Given the description of an element on the screen output the (x, y) to click on. 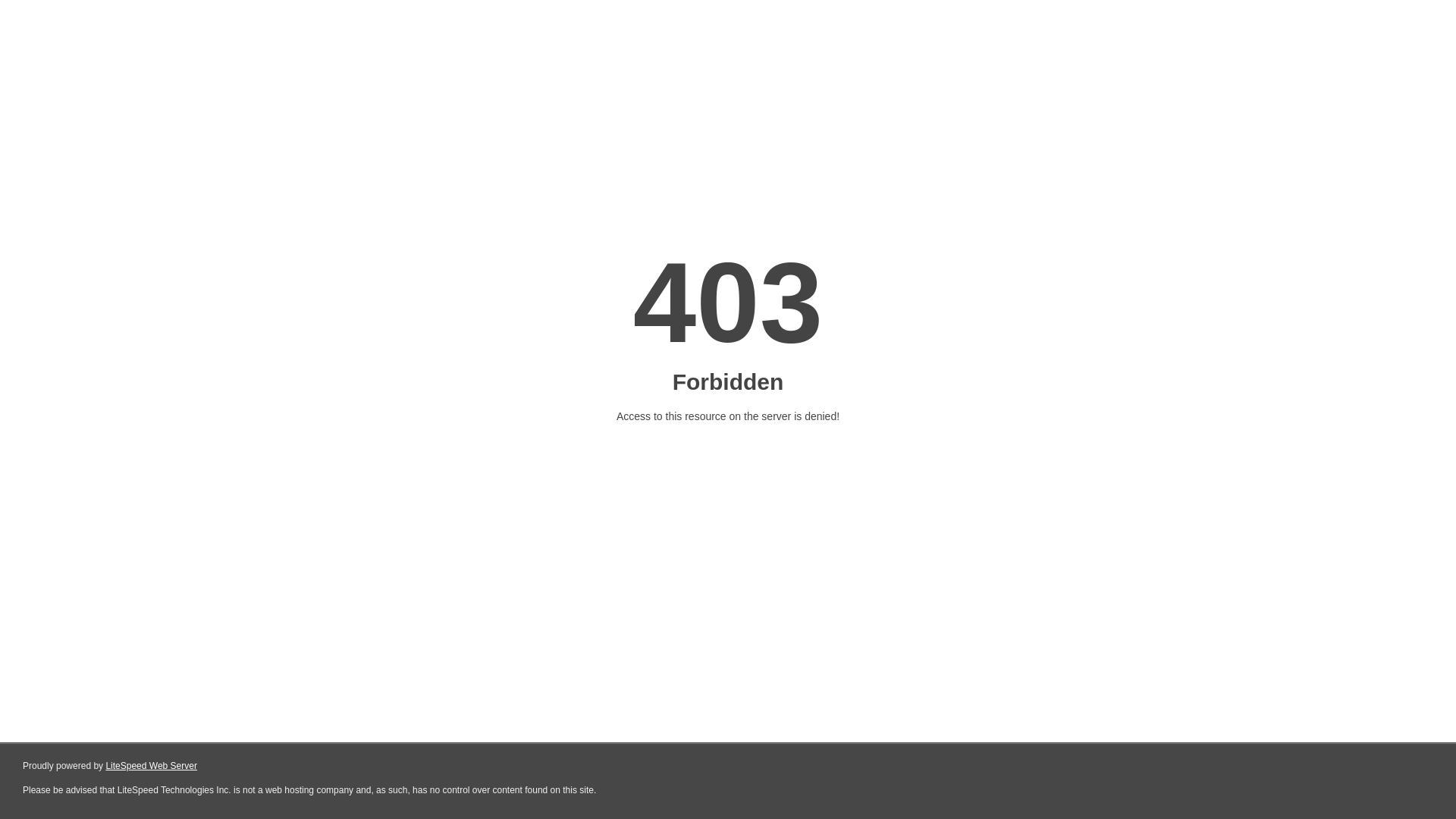
LiteSpeed Web Server Element type: text (151, 765)
